Given the description of an element on the screen output the (x, y) to click on. 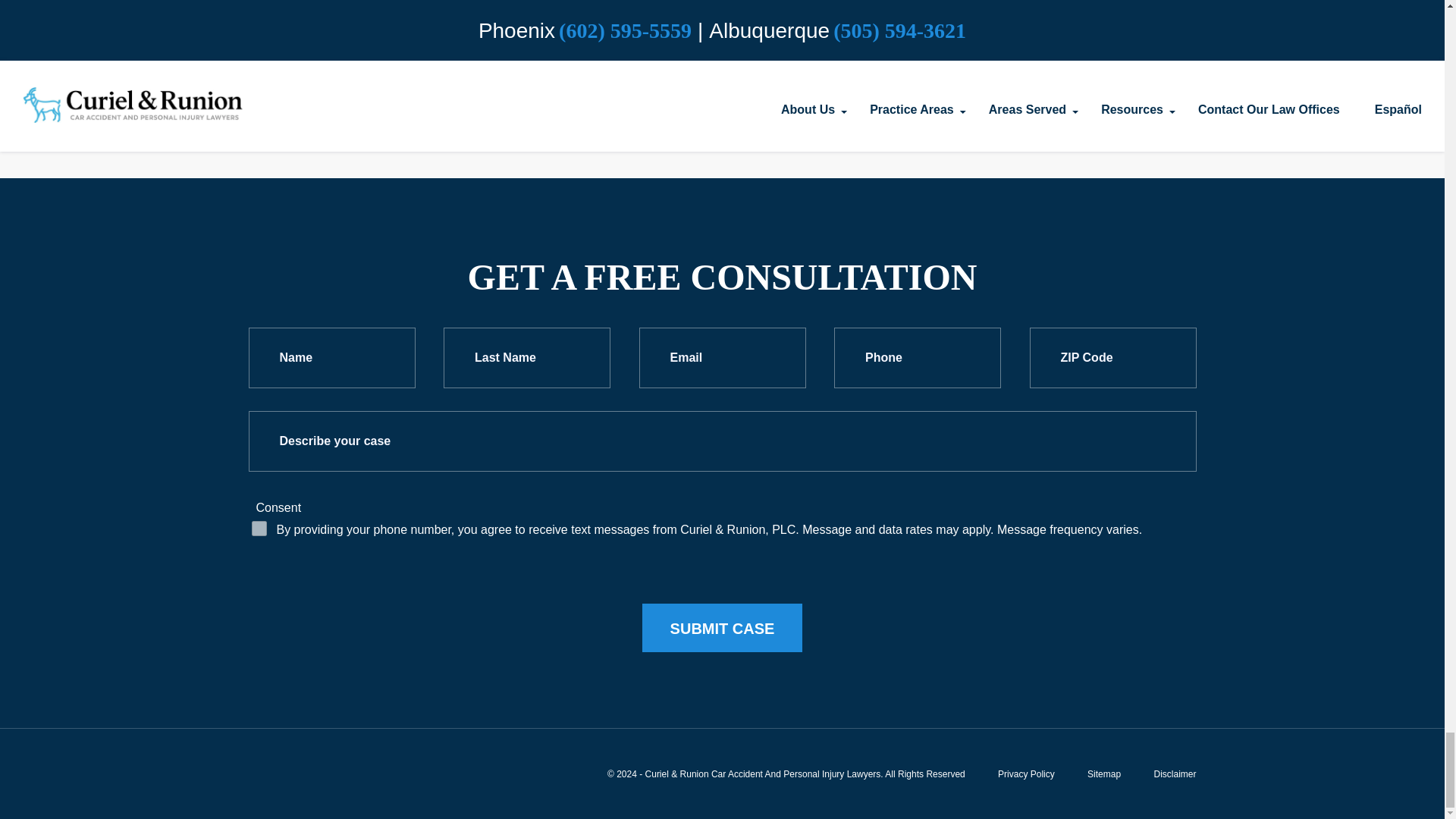
Submit Case (722, 627)
1 (258, 528)
